Given the description of an element on the screen output the (x, y) to click on. 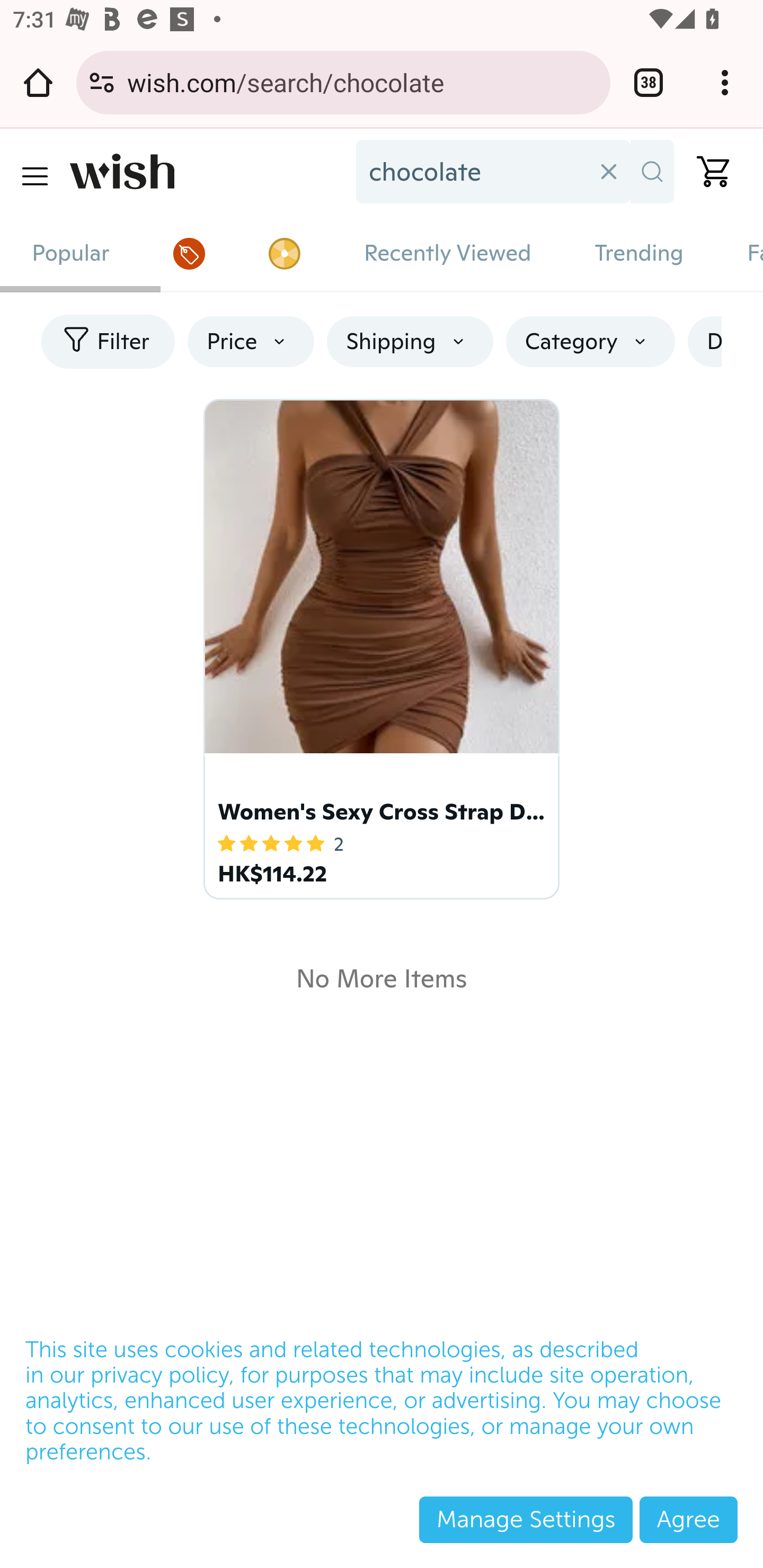
Open the home page (38, 82)
Connection is secure (101, 82)
Switch or close tabs (648, 82)
Customize and control Google Chrome (724, 82)
wish.com/search/chocolate (362, 82)
chocolate (472, 171)
Search (651, 171)
Shopping Cart: 0 items (705, 171)
Main Menu (34, 176)
www.wish (206, 171)
Deals Hub (188, 252)
blitz_buy__tab (283, 252)
Popular (70, 252)
Recently Viewed (447, 252)
Trending (638, 252)
Manage Settings (526, 1518)
Agree (688, 1518)
